Given the description of an element on the screen output the (x, y) to click on. 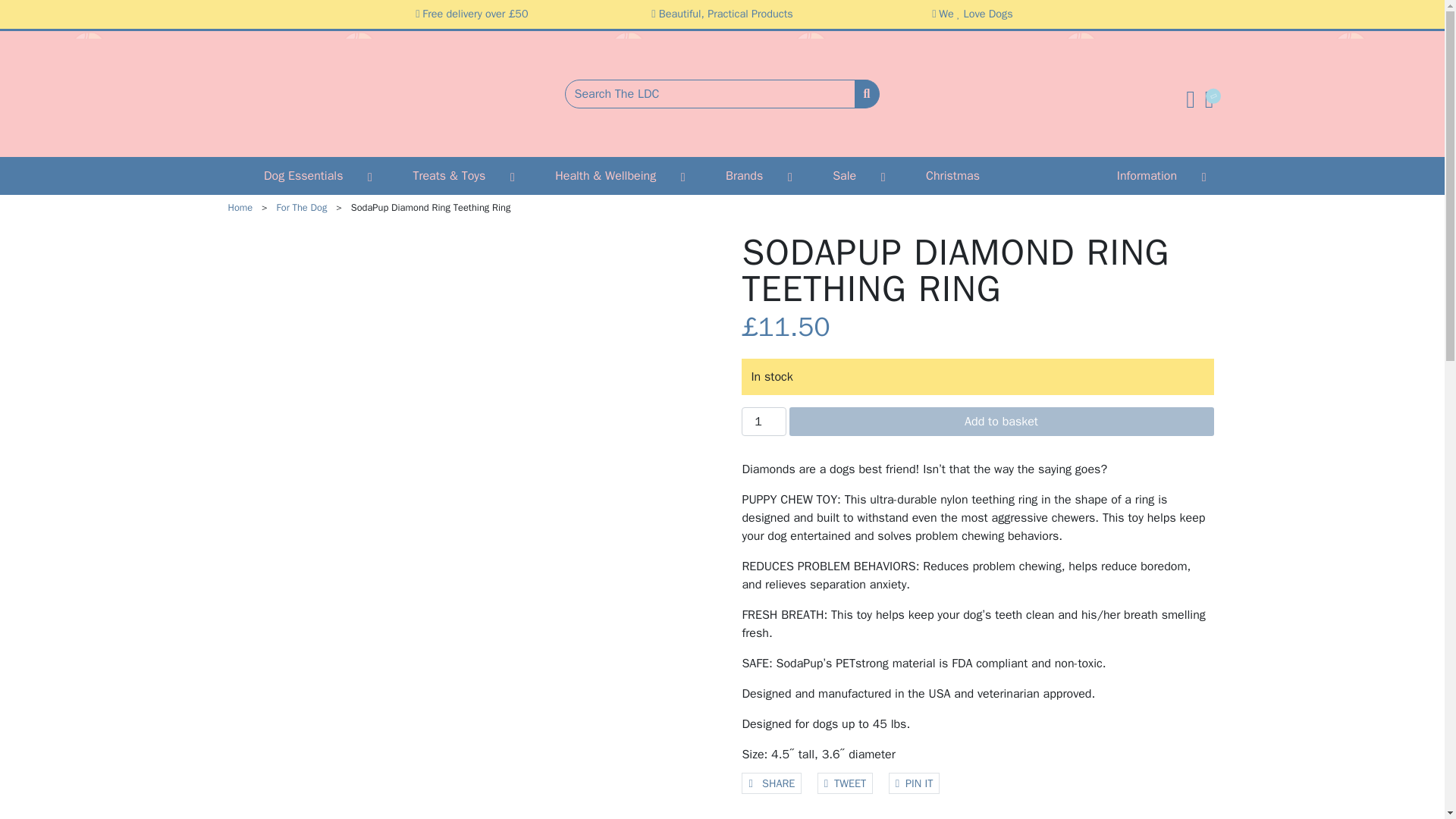
1 (763, 421)
Dog Essentials (304, 176)
Qty (763, 421)
